Given the description of an element on the screen output the (x, y) to click on. 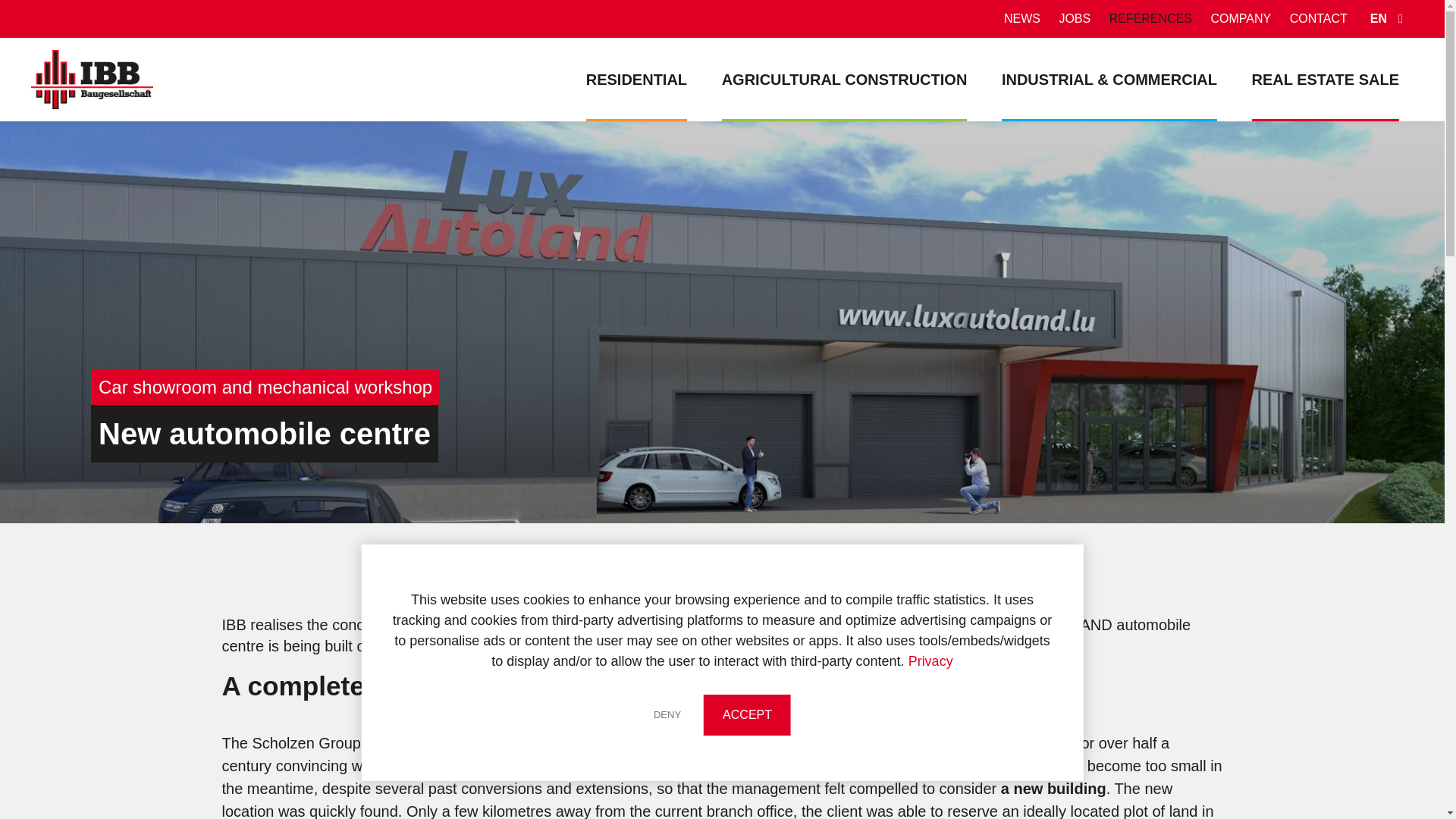
Construction company IBB Luxembourg (636, 79)
Construction company IBB Luxembourg (845, 79)
NEWS (1021, 18)
AGRICULTURAL CONSTRUCTION (845, 79)
Privacy (930, 661)
REFERENCES (1150, 18)
Contact - IBB Baugesellschaft. Luxembourg, Belgium (1318, 18)
Construction company IBB Luxembourg (1150, 18)
CONTACT (1318, 18)
RESIDENTIAL (636, 79)
Construction company IBB Luxembourg (1109, 79)
ACCEPT (746, 714)
Construction company IBB Luxembourg (1240, 18)
